Given the description of an element on the screen output the (x, y) to click on. 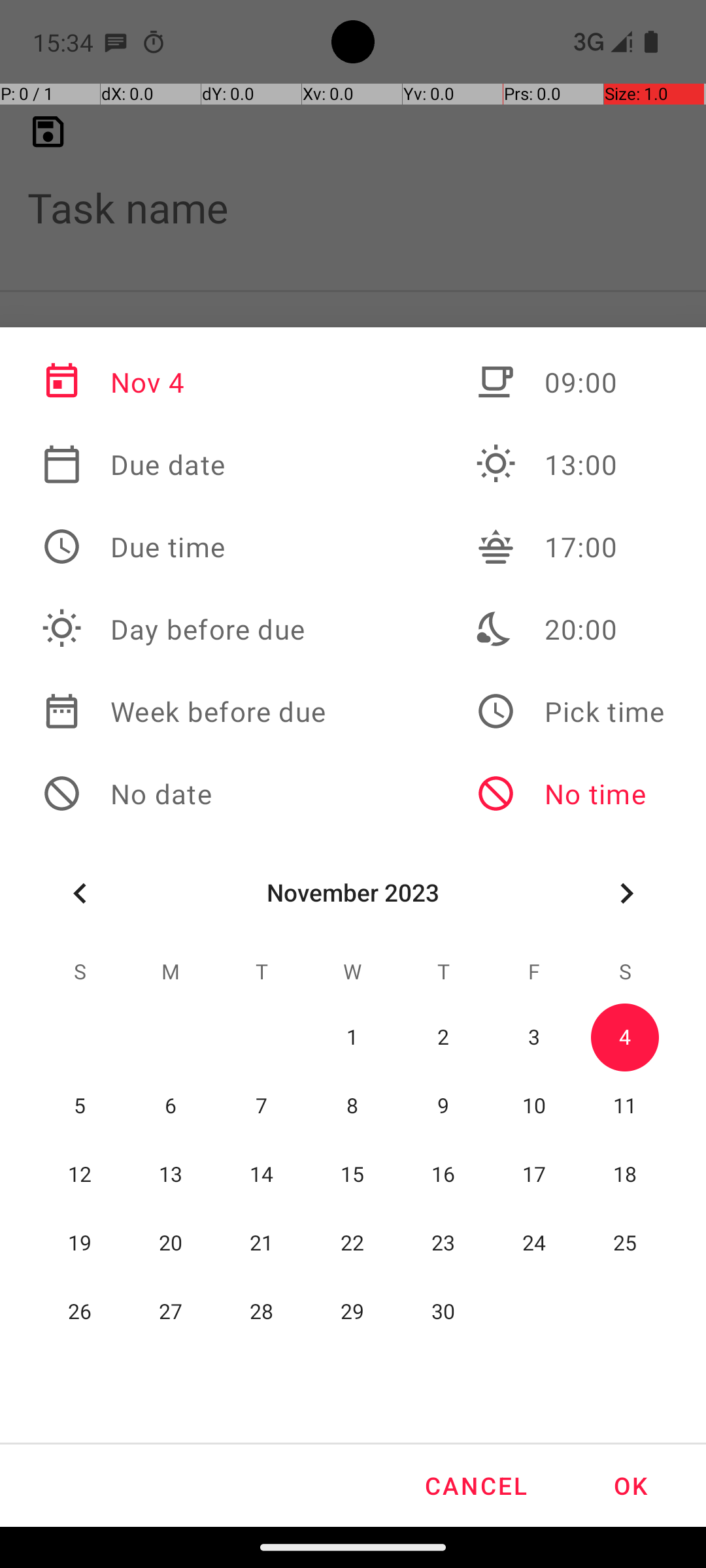
Nov 4 Element type: android.widget.CompoundButton (183, 382)
